Given the description of an element on the screen output the (x, y) to click on. 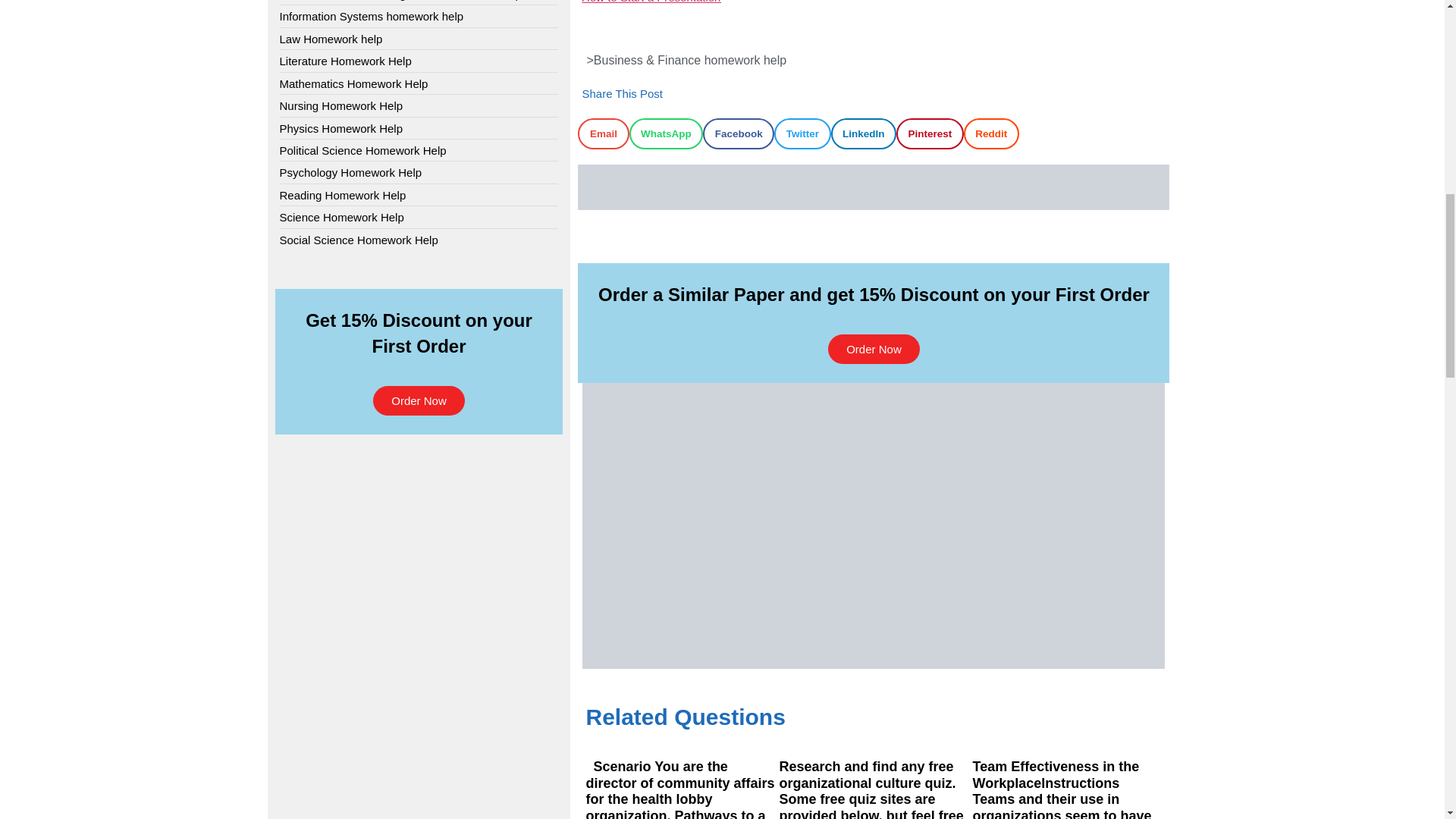
Psychology Homework Help (350, 172)
Physics Homework Help (341, 128)
Mathematics Homework Help (353, 83)
Reading Homework Help (342, 195)
Nursing Homework Help (341, 105)
Law Homework help (330, 38)
Political Science Homework Help (362, 150)
Information Systems homework help (371, 16)
Science Homework Help (341, 217)
Literature Homework Help (344, 60)
